Given the description of an element on the screen output the (x, y) to click on. 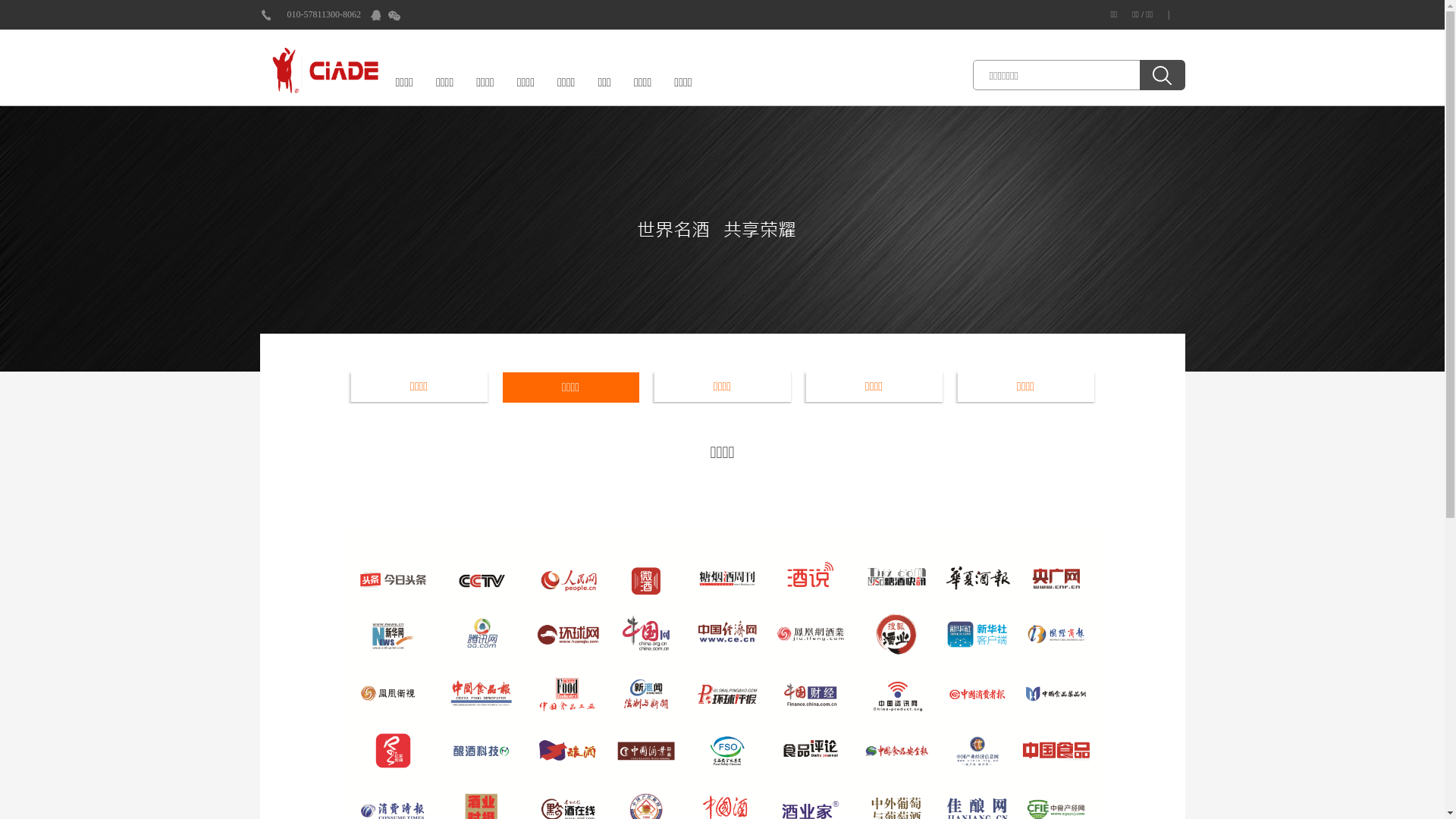
| Element type: text (1168, 14)
